Given the description of an element on the screen output the (x, y) to click on. 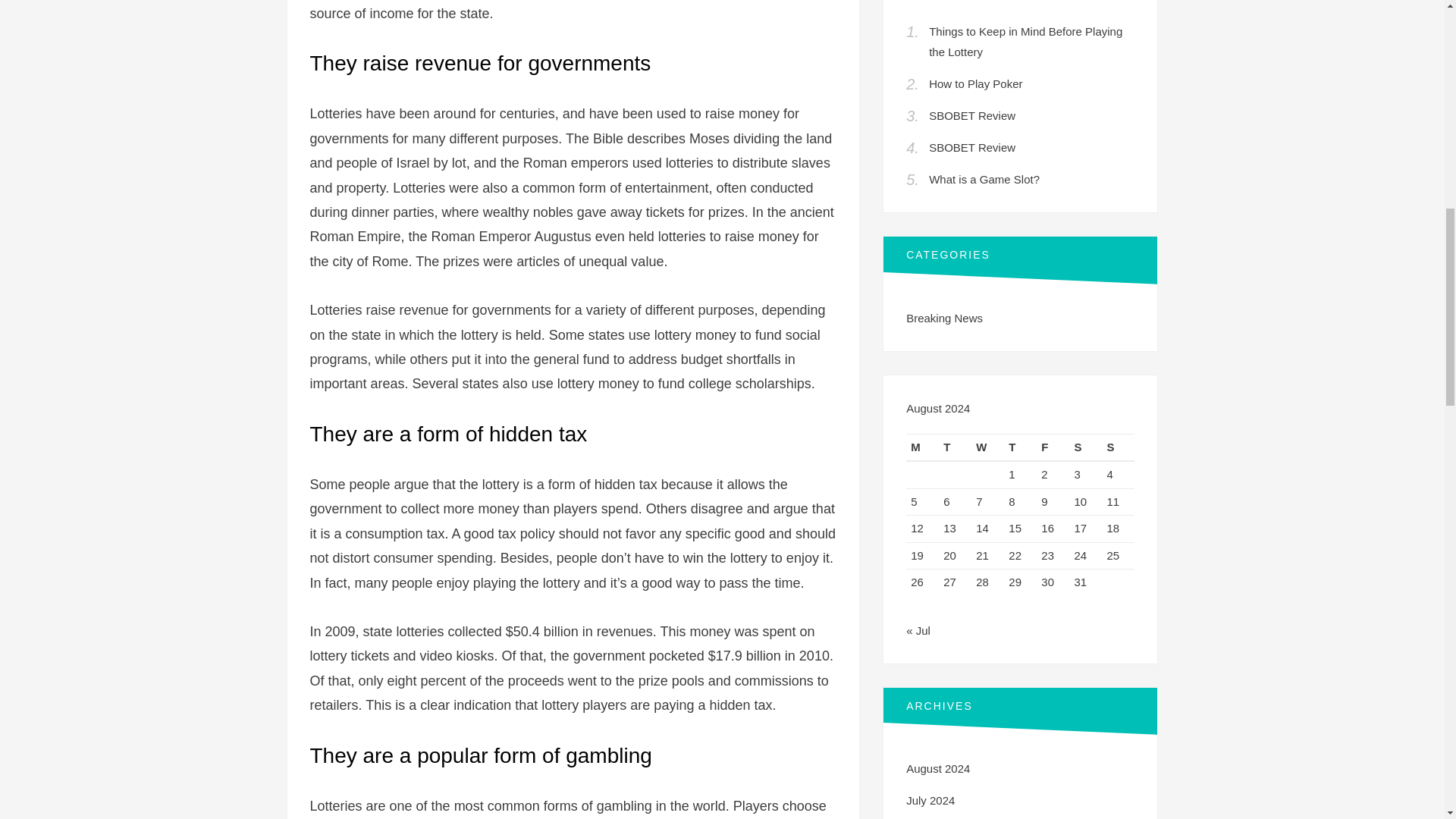
Sunday (1118, 447)
Friday (1052, 447)
Saturday (1085, 447)
Thursday (1020, 447)
SBOBET Review (971, 146)
Tuesday (955, 447)
Monday (922, 447)
Breaking News (943, 318)
Things to Keep in Mind Before Playing the Lottery (1025, 41)
SBOBET Review (971, 115)
